Given the description of an element on the screen output the (x, y) to click on. 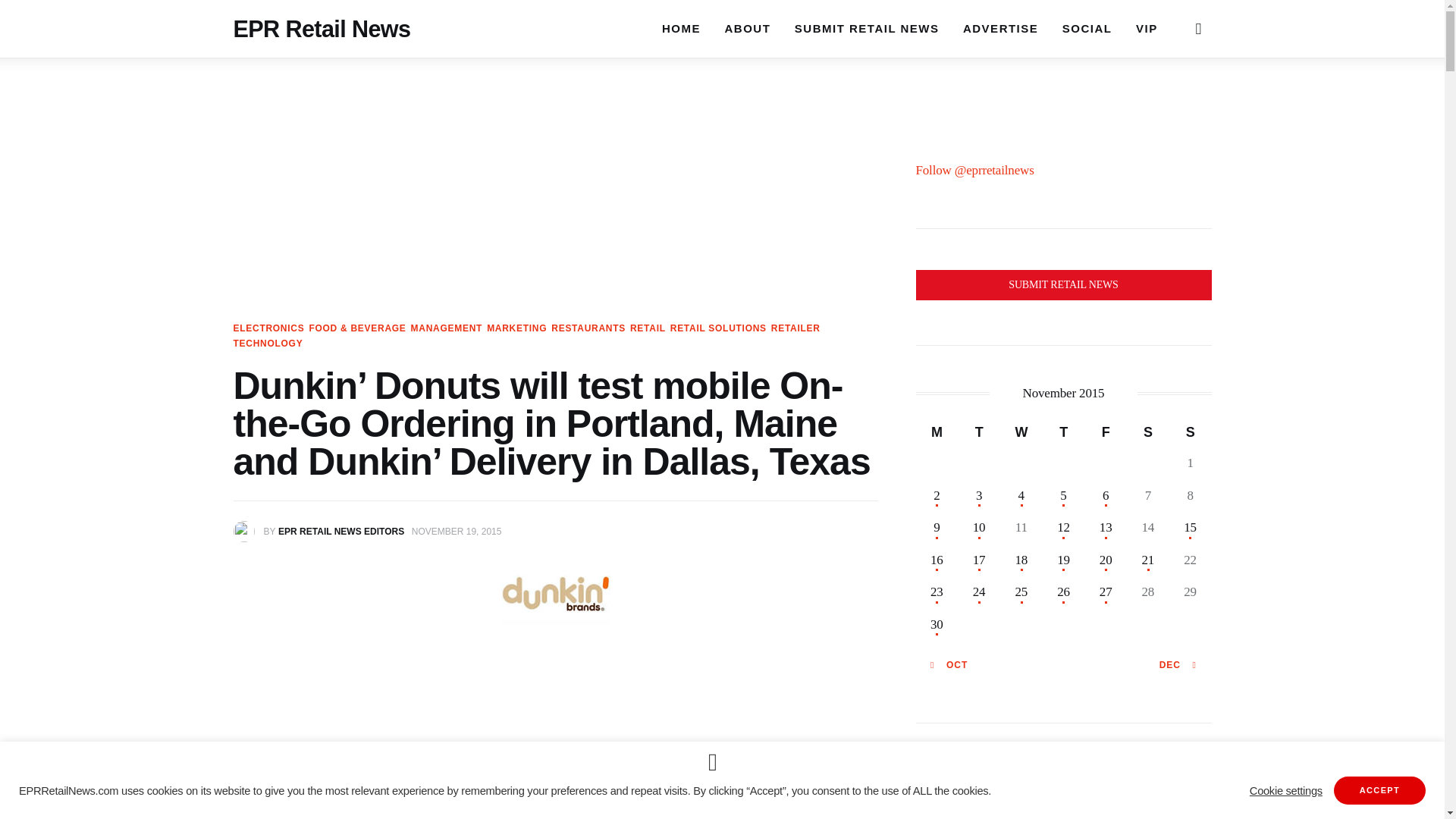
Sunday (1190, 431)
EPR Retail News (321, 10)
Submit Retail News (1063, 285)
Thursday (1063, 431)
Saturday (1147, 431)
VIP (1146, 28)
Wednesday (1021, 431)
SUBMIT RETAIL NEWS (866, 28)
Tuesday (979, 431)
